Given the description of an element on the screen output the (x, y) to click on. 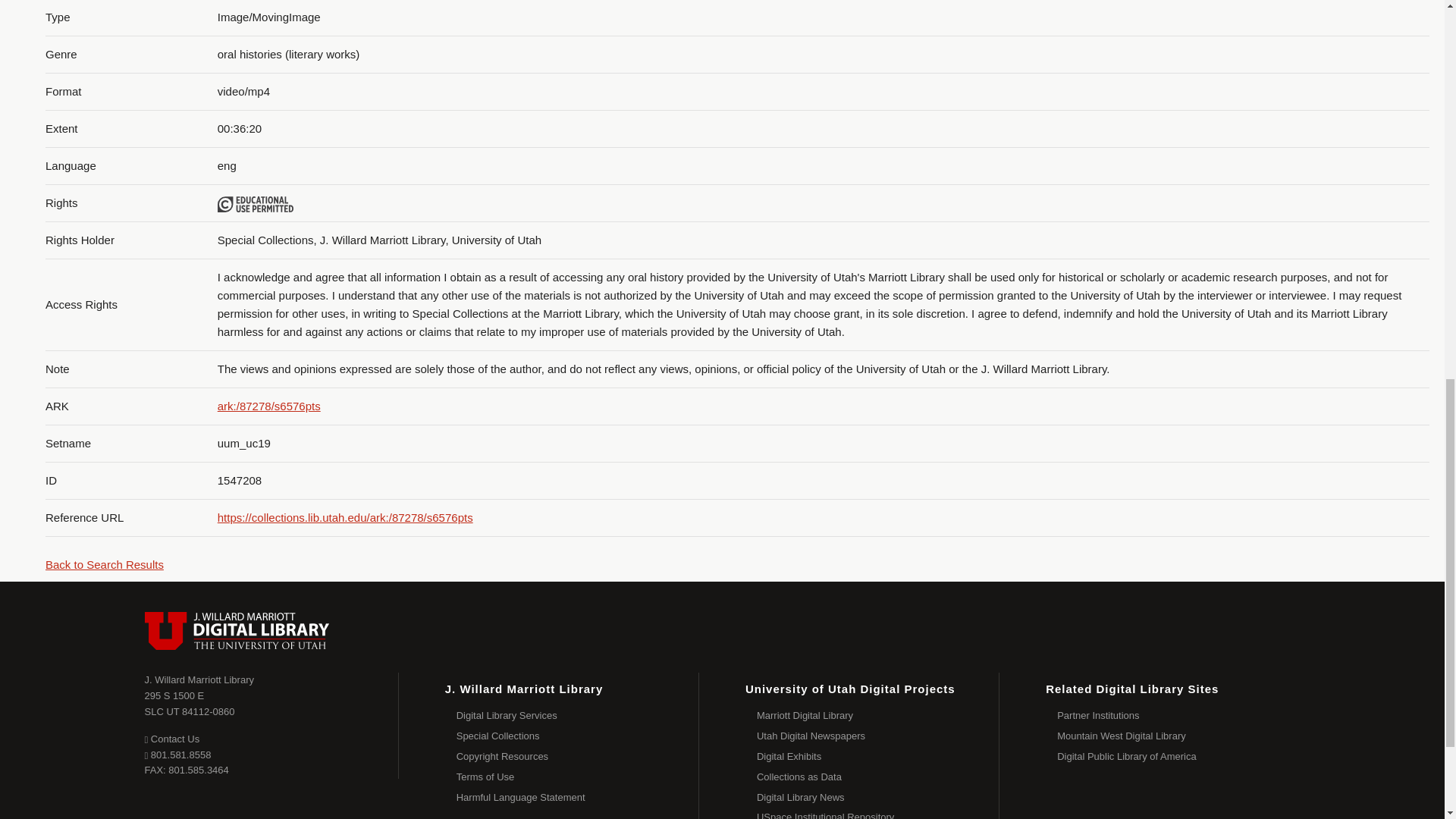
Terms of Use (577, 777)
Back to Search Results (104, 563)
J. Willard Marriott Library (198, 679)
Mountain West Digital Library (1178, 736)
Digital Library News (877, 797)
Partner Institutions (1178, 715)
IN COPYRIGHT - EDUCATIONAL USE PERMITTED (255, 204)
Marriott Digital Library (877, 715)
Collections as Data (189, 703)
Utah Digital Newspapers (877, 777)
Harmful Language Statement (877, 736)
Digital Public Library of America (577, 797)
Digital Library Services (1178, 756)
Contact Us (577, 715)
